Given the description of an element on the screen output the (x, y) to click on. 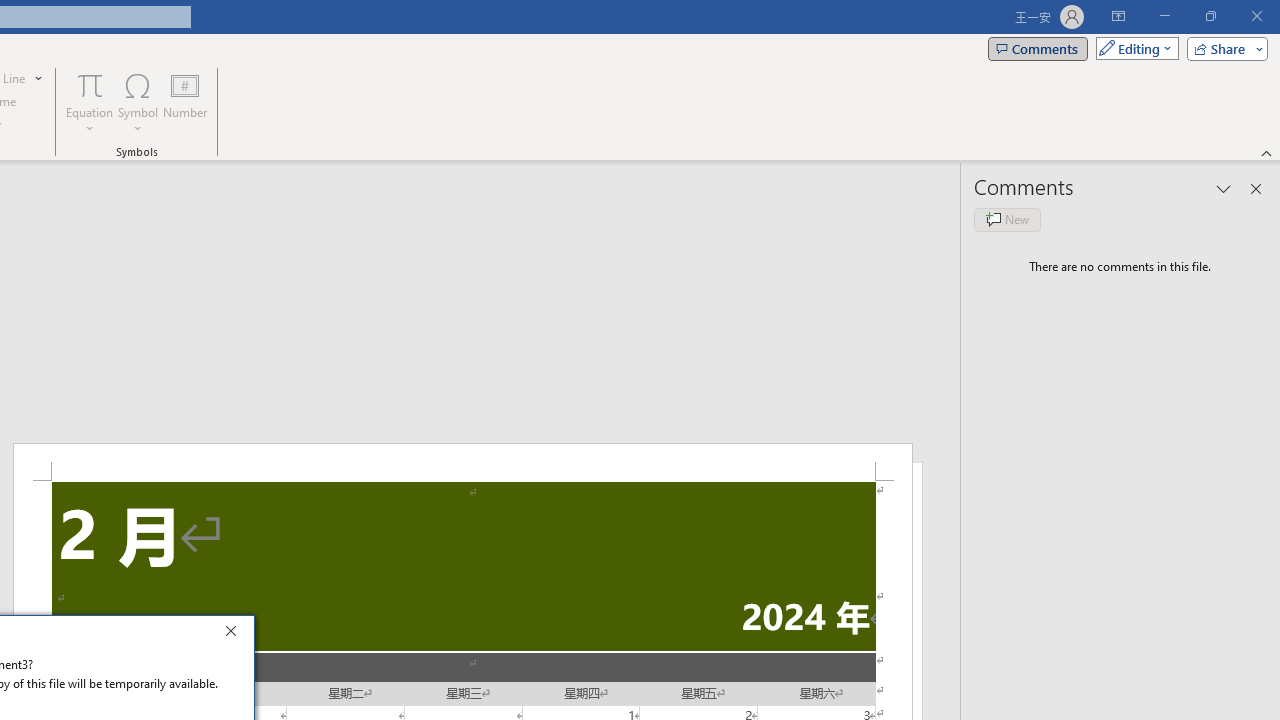
Number... (185, 102)
Equation (90, 102)
Restore Down (1210, 16)
Minimize (1164, 16)
